Given the description of an element on the screen output the (x, y) to click on. 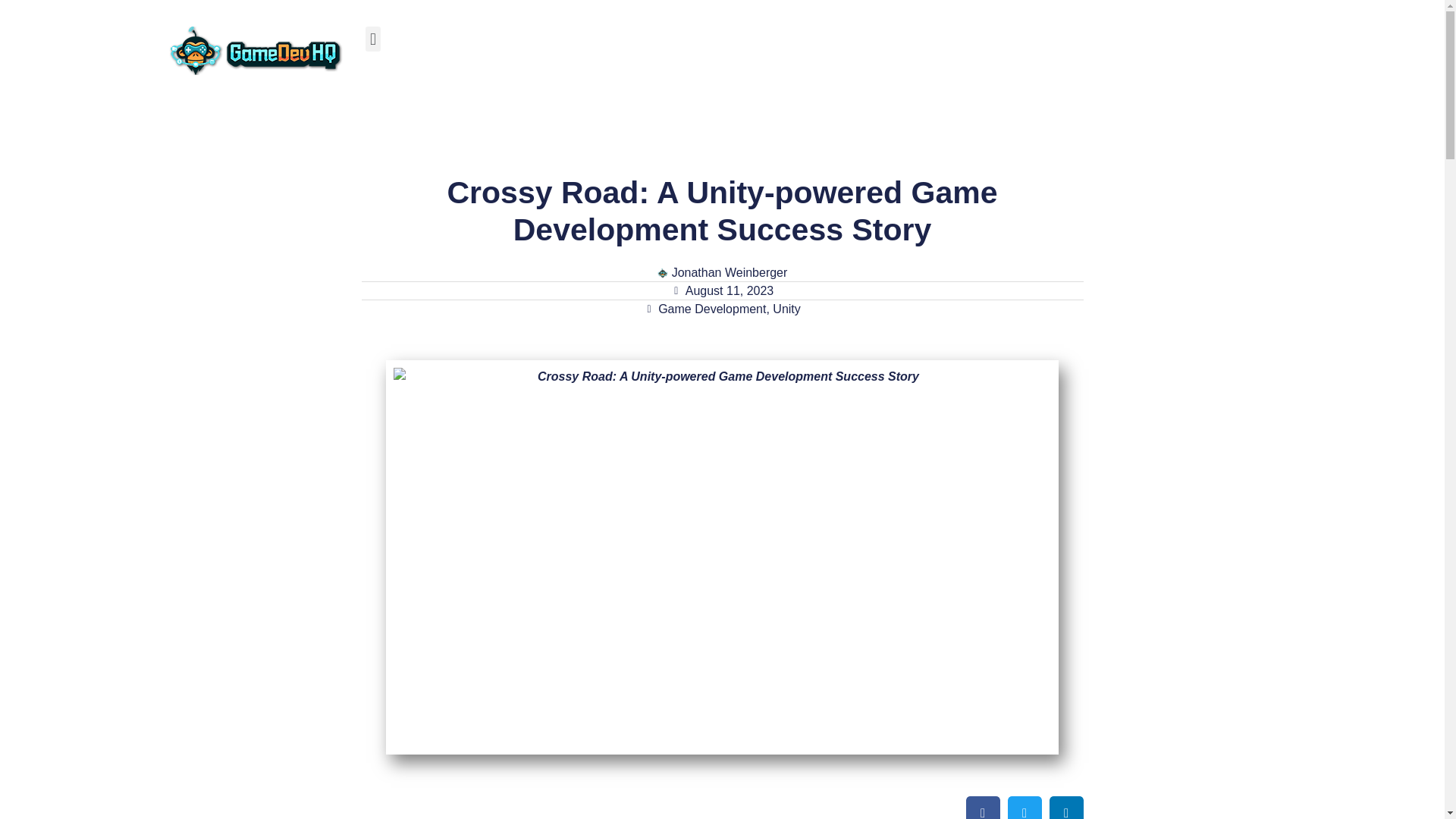
August 11, 2023 (722, 290)
Unity (786, 308)
Game Development (711, 308)
Jonathan Weinberger (722, 272)
